Given the description of an element on the screen output the (x, y) to click on. 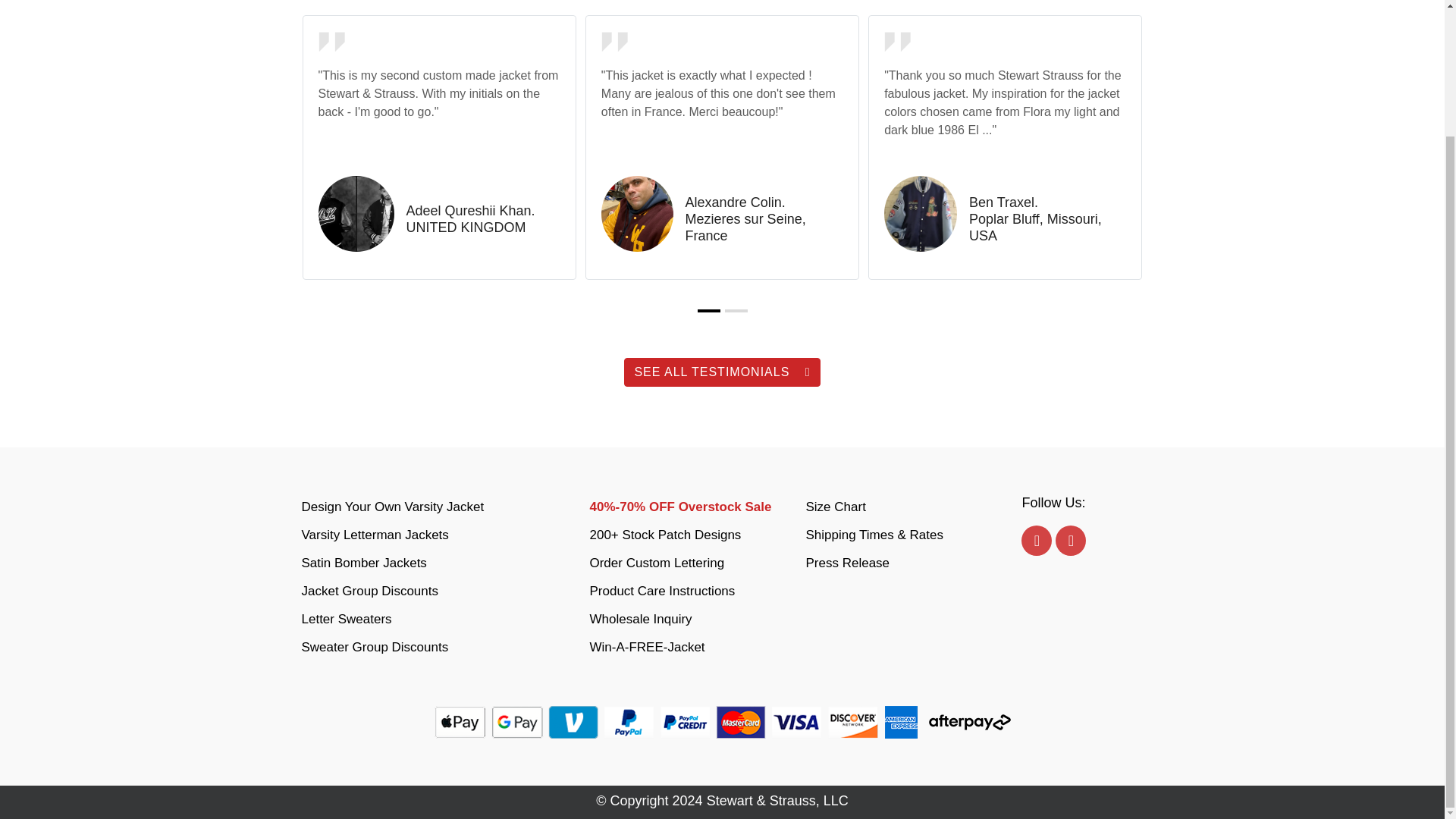
Follow us on Facebook (1036, 540)
Follow us on Instagram (1070, 540)
